Given the description of an element on the screen output the (x, y) to click on. 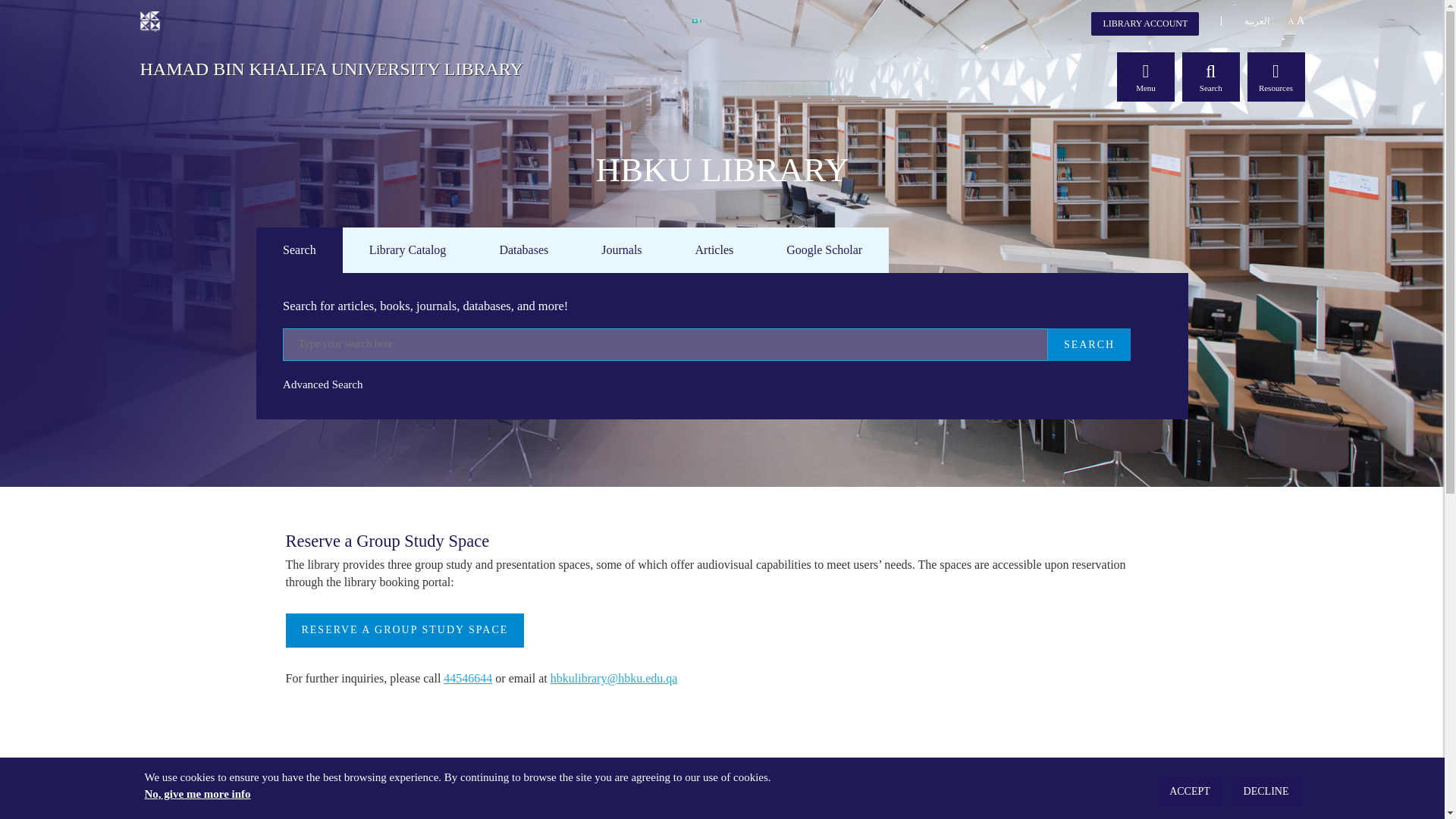
44546644 (468, 677)
RESERVE A GROUP STUDY SPACE (404, 630)
Databases (523, 248)
HBKU Library (330, 64)
Search (298, 248)
Hamad Bin Khalifa University (148, 20)
Hamad Bin Khalifa University (148, 21)
HAMAD BIN KHALIFA UNIVERSITY LIBRARY (330, 64)
Advanced Search (322, 384)
SEARCH (1089, 344)
LIBRARY ACCOUNT (1144, 24)
Google Scholar (823, 248)
Library Catalog (407, 248)
Journals (621, 248)
Articles (714, 248)
